Given the description of an element on the screen output the (x, y) to click on. 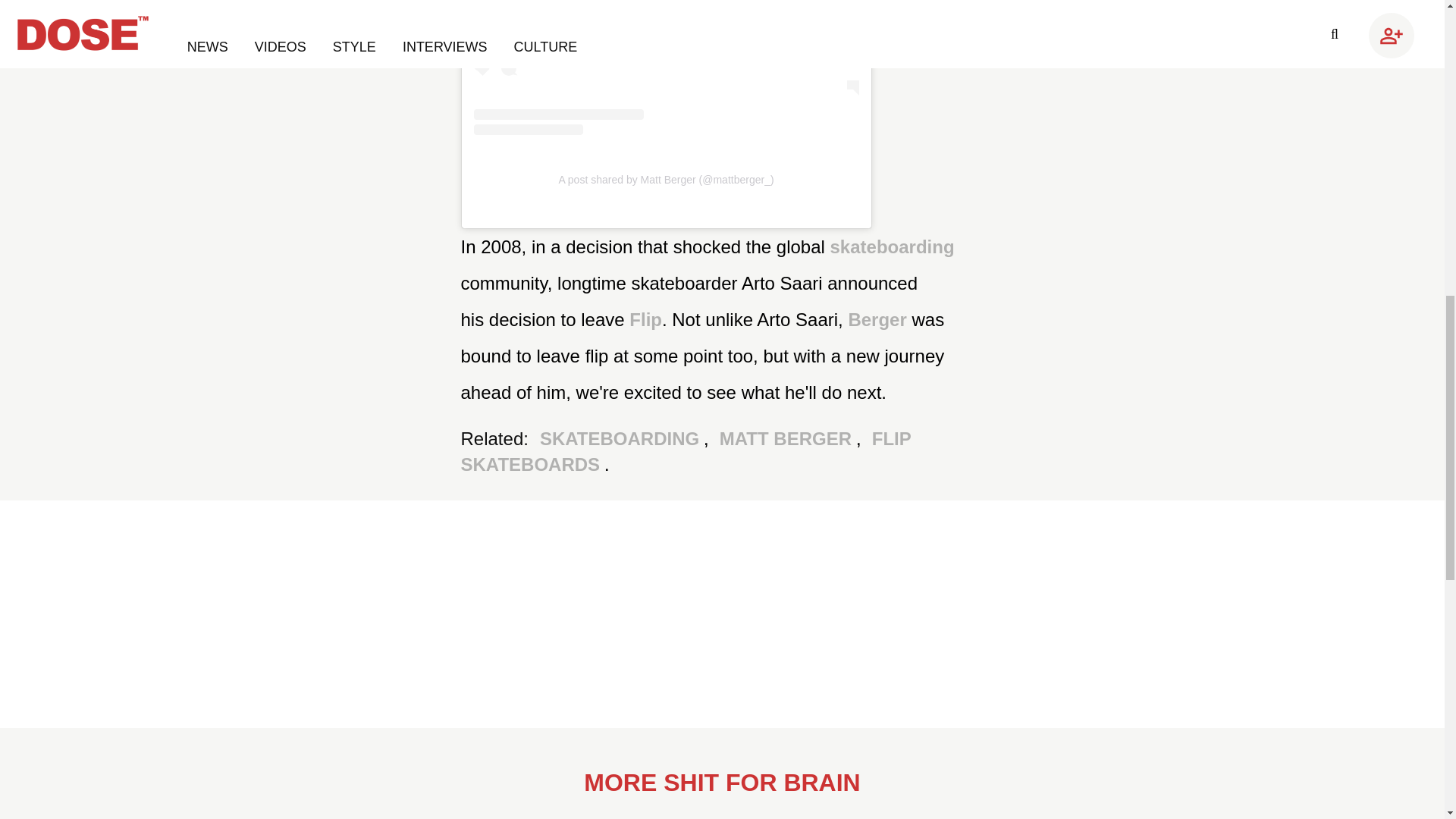
MATT BERGER (788, 438)
Flip (645, 319)
FLIP SKATEBOARDS (686, 451)
SKATEBOARDING (622, 438)
skateboarding (892, 246)
Berger (879, 319)
